Given the description of an element on the screen output the (x, y) to click on. 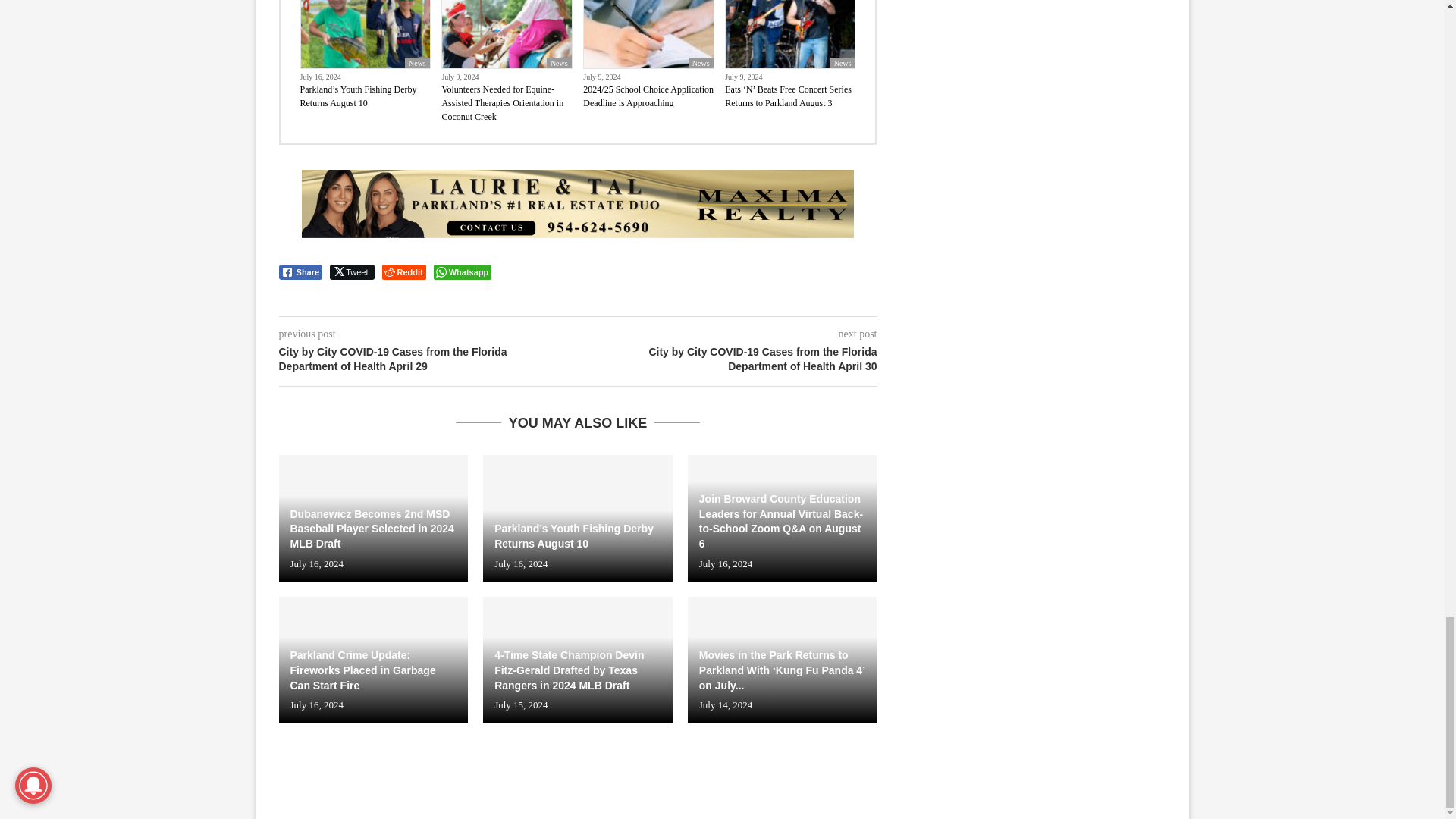
Parkland's Youth Fishing Derby Returns August 10 2 (364, 33)
